Given the description of an element on the screen output the (x, y) to click on. 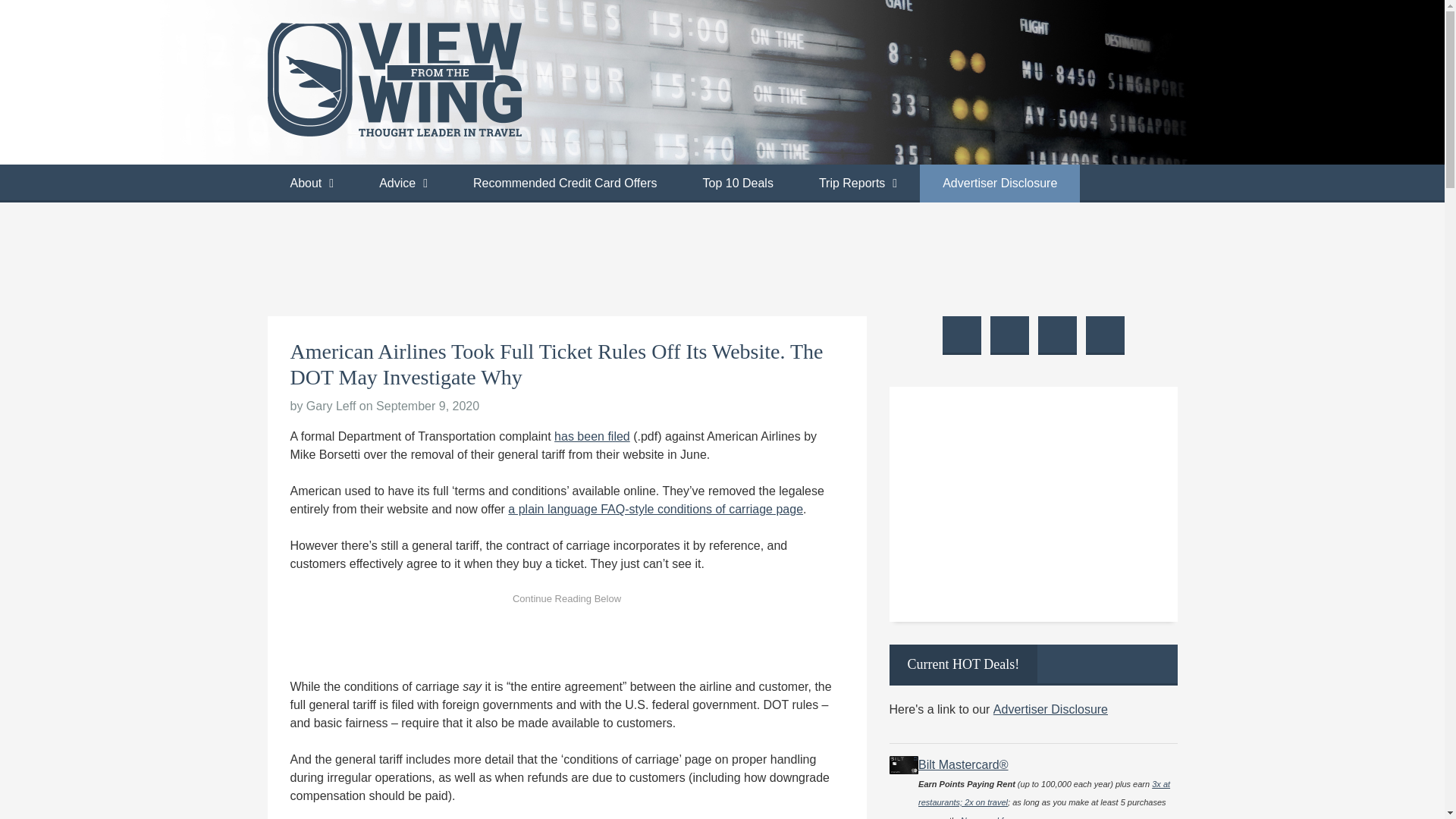
Top 10 Deals (736, 183)
has been filed (592, 436)
About (311, 183)
a plain language FAQ-style conditions of carriage page (655, 508)
Recommended Credit Card Offers (564, 183)
Advertiser Disclosure (1000, 183)
Trip Reports (858, 183)
Gary Leff (330, 405)
Advice (402, 183)
